Given the description of an element on the screen output the (x, y) to click on. 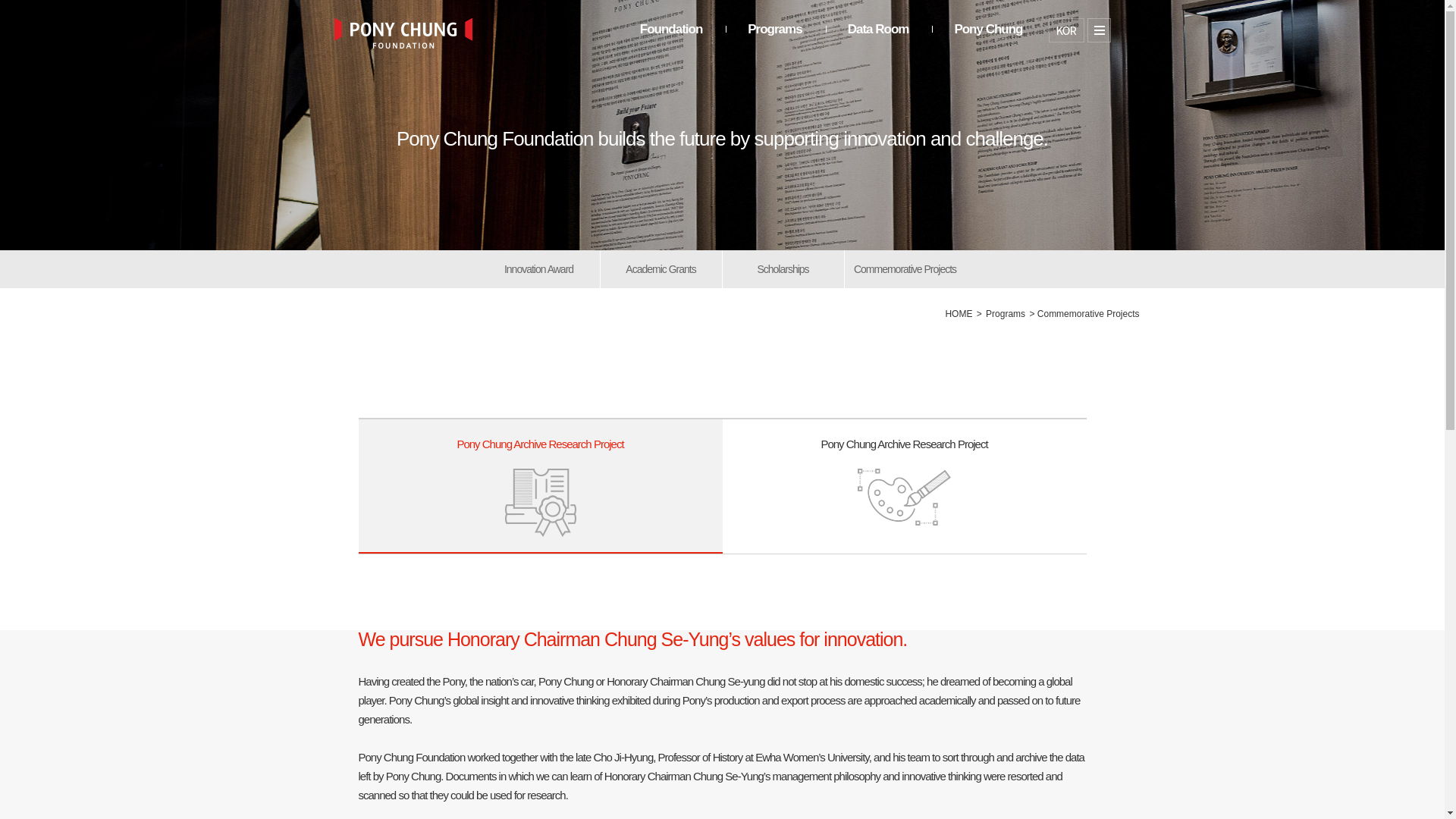
Foundation (671, 40)
Programs (775, 40)
Programs (904, 485)
KOR (1005, 313)
Academic Grants (1065, 30)
Scholarships (660, 269)
Pony Chung (782, 269)
HOME (987, 40)
